Given the description of an element on the screen output the (x, y) to click on. 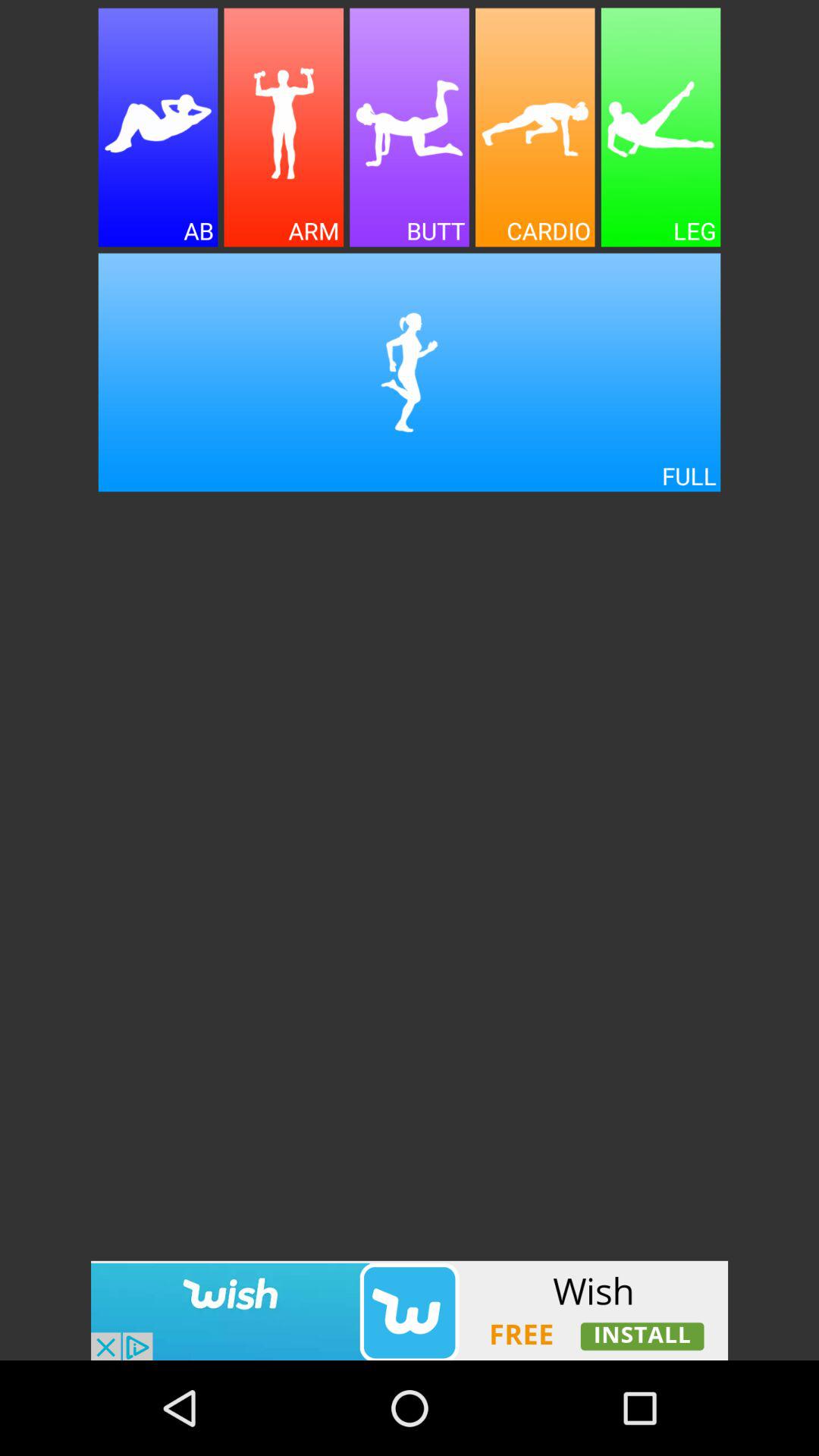
open the full exercise function (409, 372)
